Given the description of an element on the screen output the (x, y) to click on. 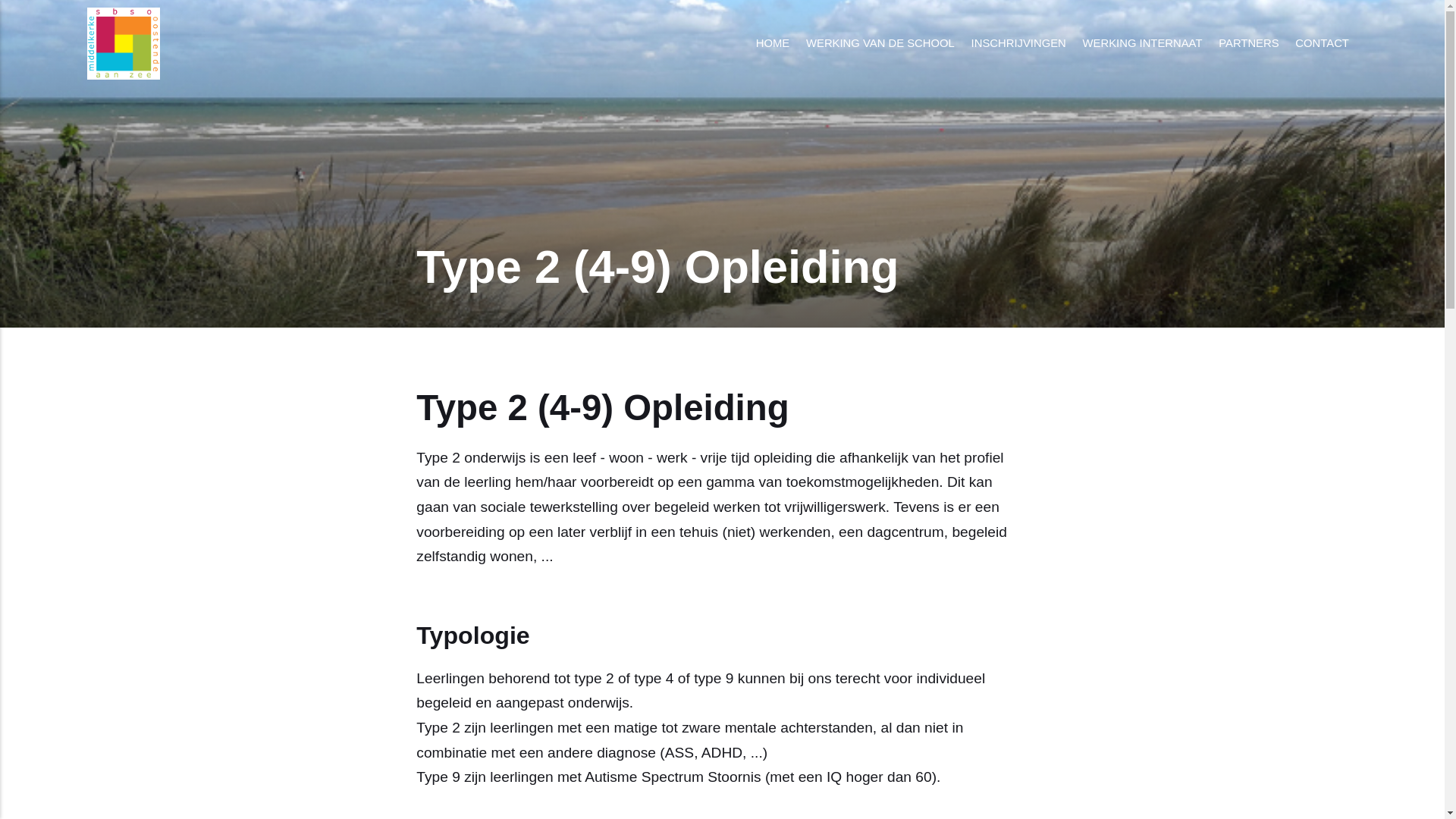
HOME Element type: text (772, 43)
CONTACT Element type: text (1321, 43)
INSCHRIJVINGEN Element type: text (1018, 43)
WERKING INTERNAAT Element type: text (1142, 43)
PARTNERS Element type: text (1248, 43)
